Given the description of an element on the screen output the (x, y) to click on. 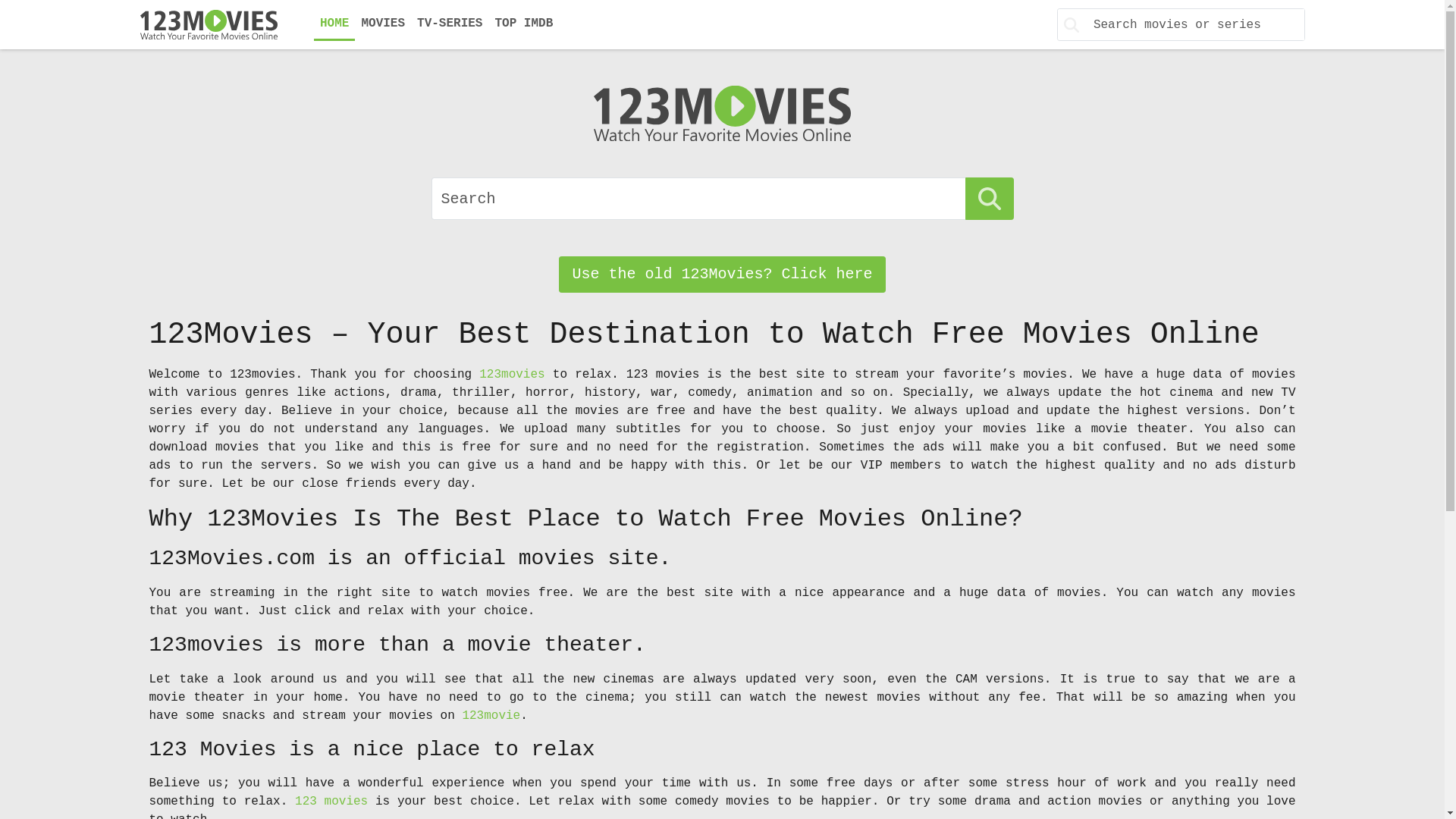
123 movies Element type: text (330, 801)
TOP IMDB Element type: text (523, 23)
123movies Element type: text (511, 374)
TV-SERIES Element type: text (449, 23)
Use the old 123Movies? Click here Element type: text (721, 274)
123movie Element type: text (490, 715)
MOVIES Element type: text (382, 23)
HOME Element type: text (333, 24)
